Given the description of an element on the screen output the (x, y) to click on. 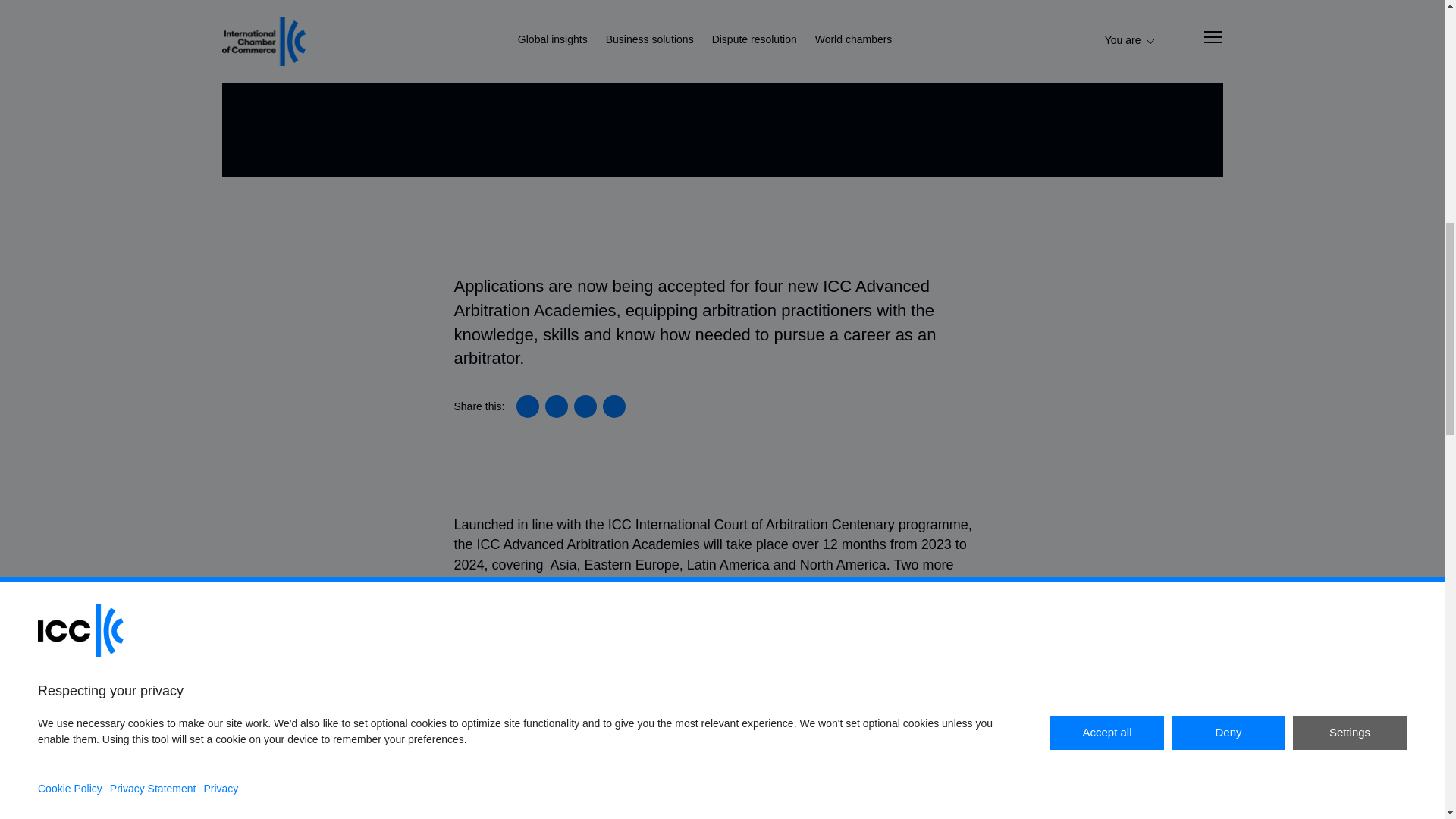
Share on Facebook (584, 405)
Share on X (555, 405)
Share on Linkedin (527, 405)
Share this article with your email software (614, 405)
